Given the description of an element on the screen output the (x, y) to click on. 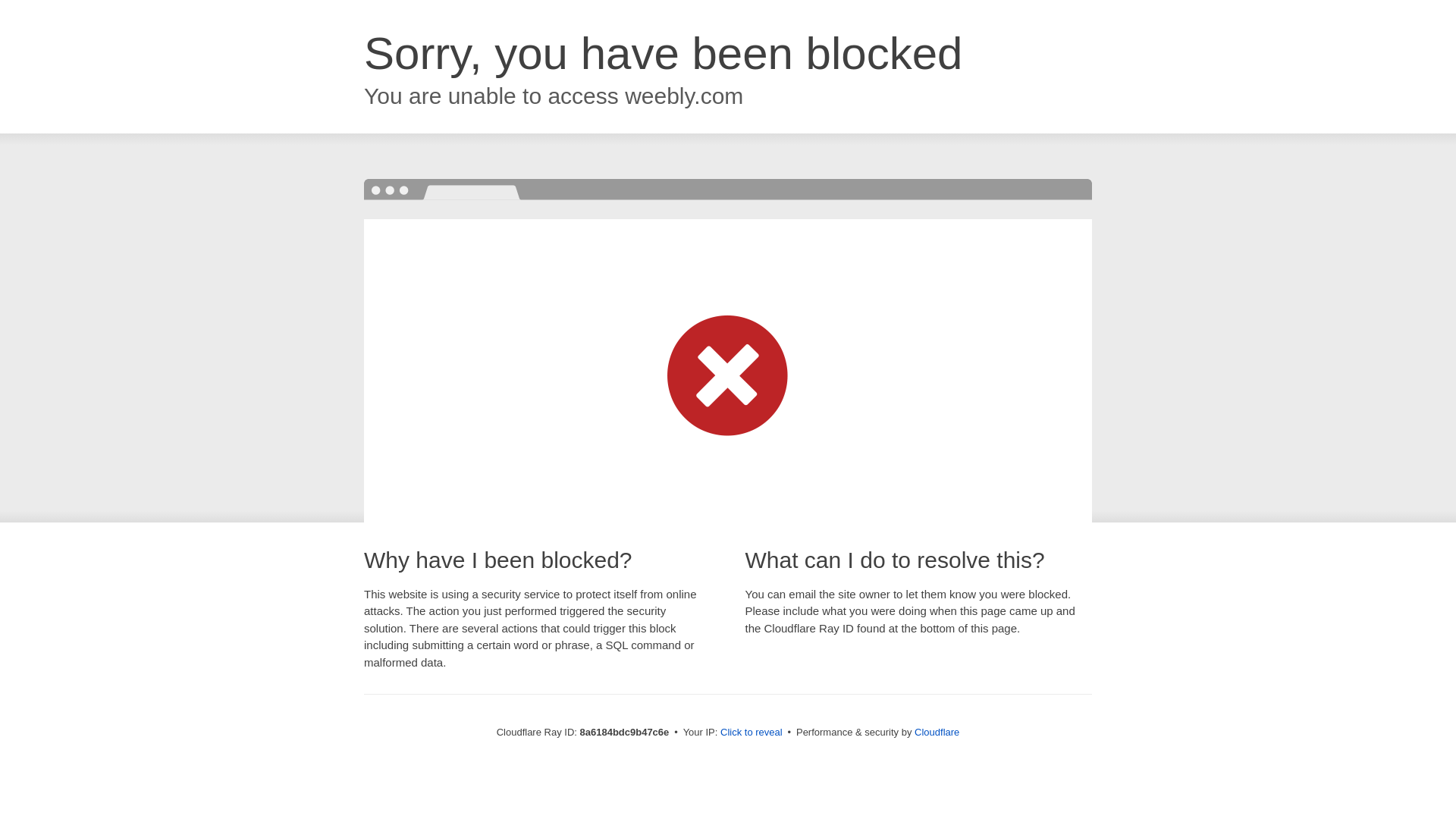
Cloudflare (936, 731)
Click to reveal (751, 732)
